Given the description of an element on the screen output the (x, y) to click on. 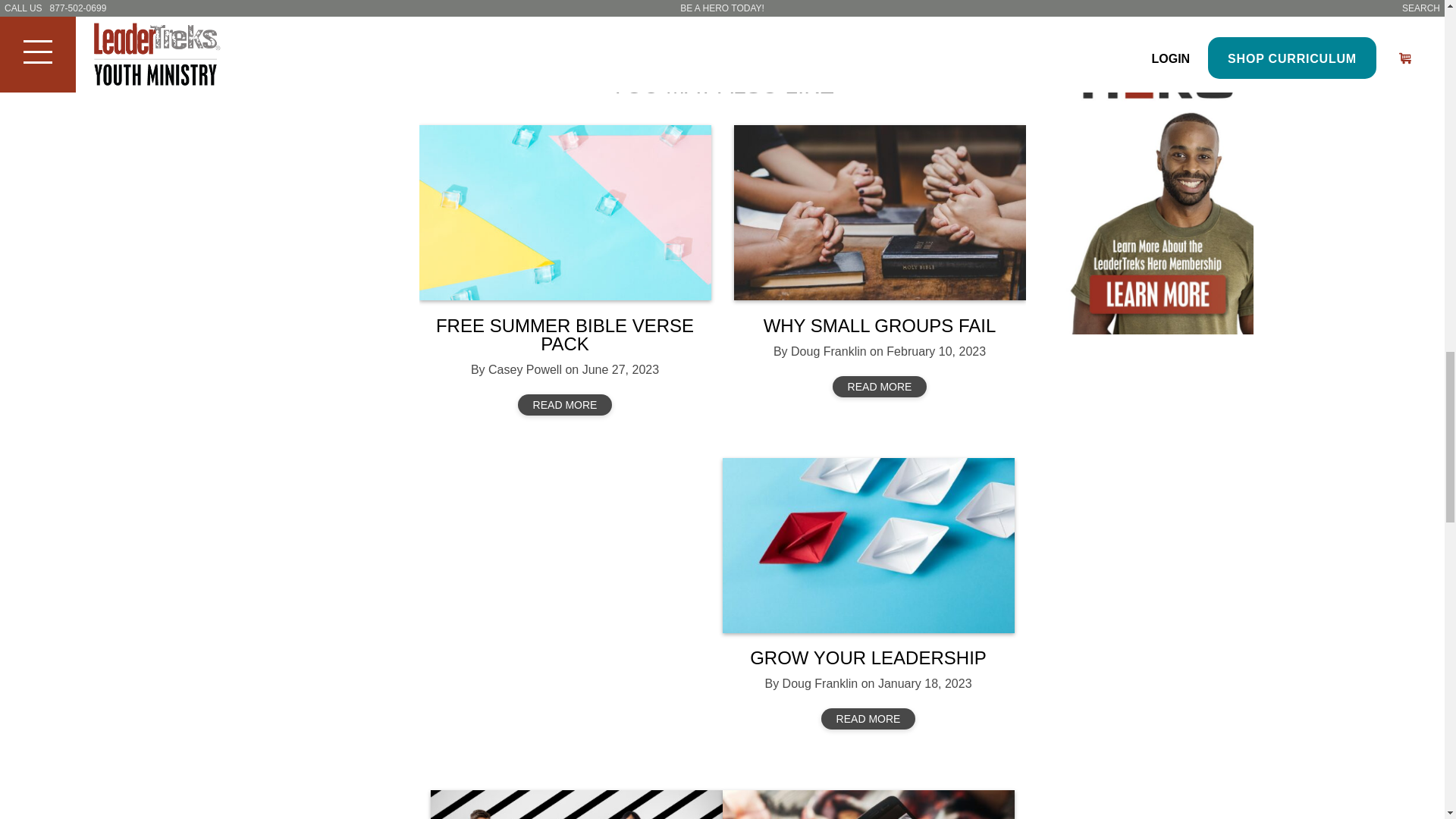
GROW YOUR LEADERSHIP (868, 657)
FREE SUMMER BIBLE VERSE PACK (564, 334)
Why Small Groups Fail (879, 212)
FREE summer bible Verse PACK (564, 212)
READ MORE (879, 386)
READ MORE (565, 404)
GROW YOUR LEADERSHIP (867, 545)
WHY SMALL GROUPS FAIL (878, 325)
The 5 Purposes of Youth Ministry (576, 804)
READ MORE (868, 718)
